Given the description of an element on the screen output the (x, y) to click on. 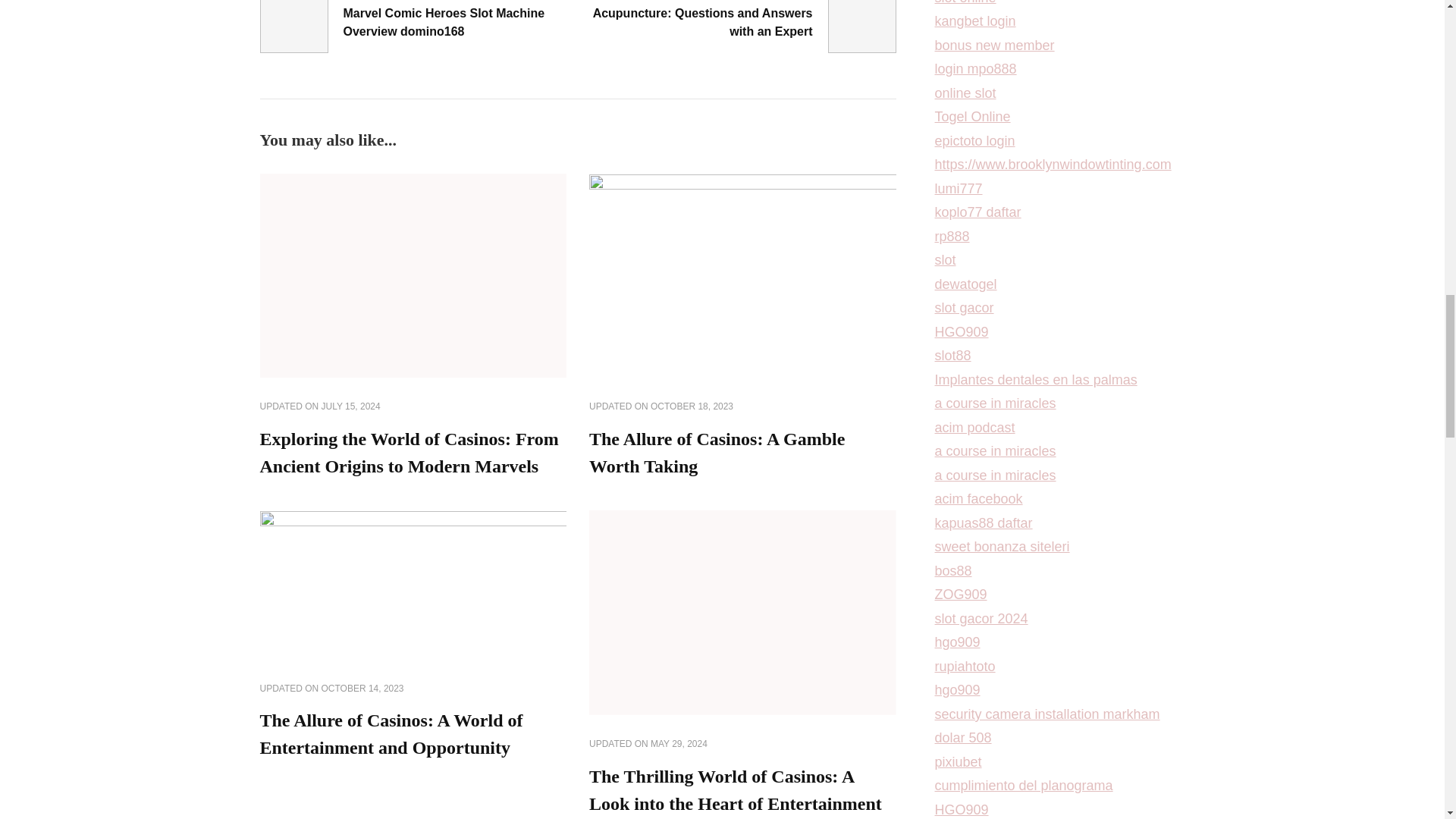
OCTOBER 18, 2023 (691, 407)
JULY 15, 2024 (350, 407)
The Allure of Casinos: A Gamble Worth Taking (716, 452)
OCTOBER 14, 2023 (362, 689)
MAY 29, 2024 (678, 744)
